Given the description of an element on the screen output the (x, y) to click on. 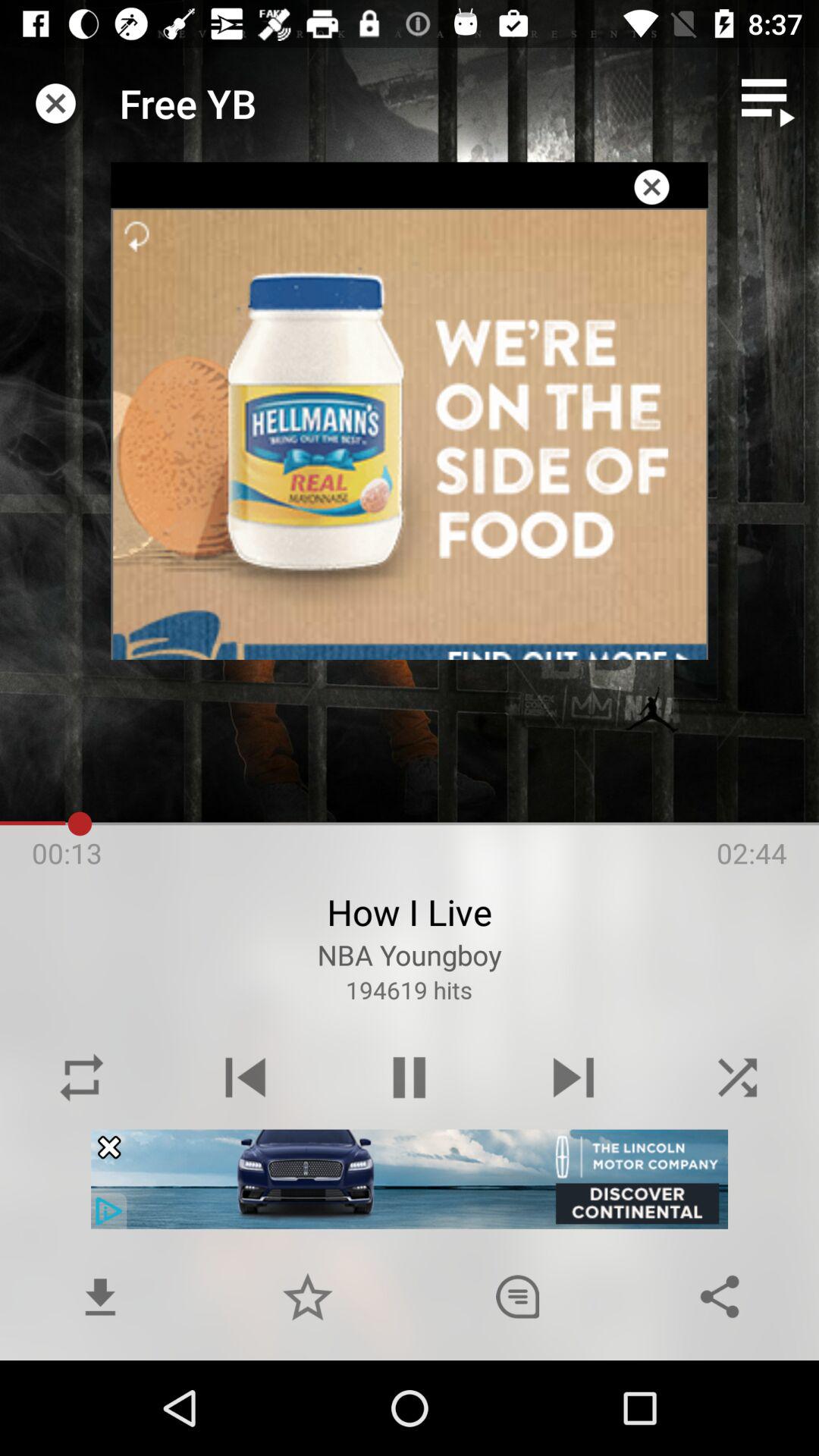
go to play list (768, 103)
click on replay button (81, 1077)
select download button (99, 1296)
click on the pause button (409, 1077)
click the buttom which is left to the share button (517, 1296)
